Given the description of an element on the screen output the (x, y) to click on. 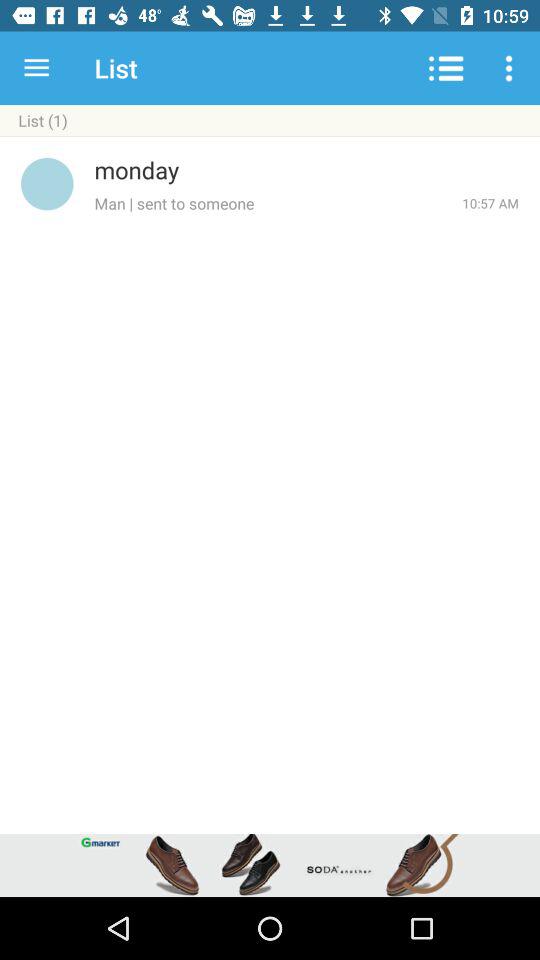
launch icon below monday icon (278, 203)
